Given the description of an element on the screen output the (x, y) to click on. 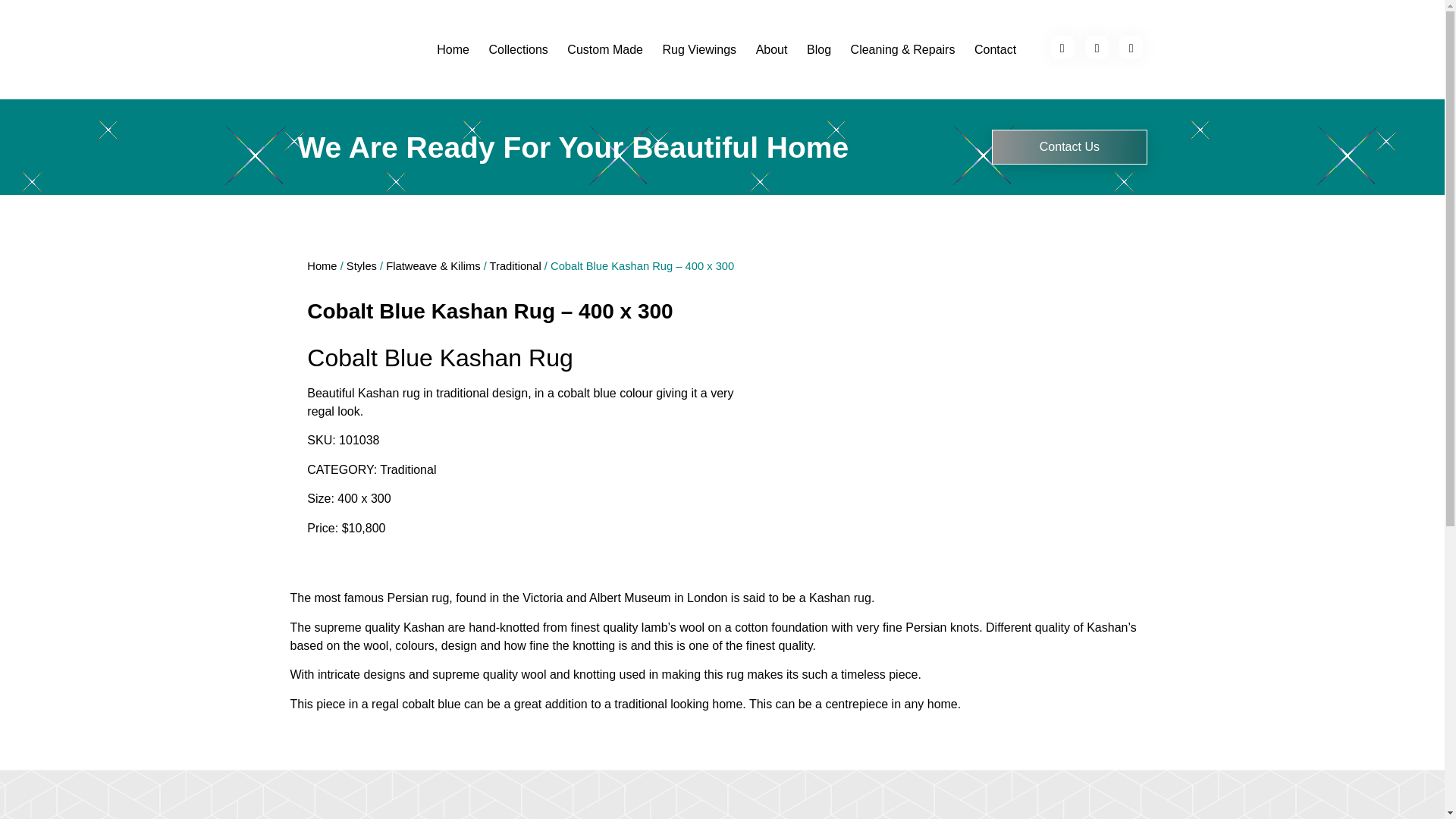
About (770, 49)
Custom Made (604, 49)
Contact (994, 49)
Blog (818, 49)
Home (453, 49)
Collections (518, 49)
Rug Viewings (698, 49)
